Given the description of an element on the screen output the (x, y) to click on. 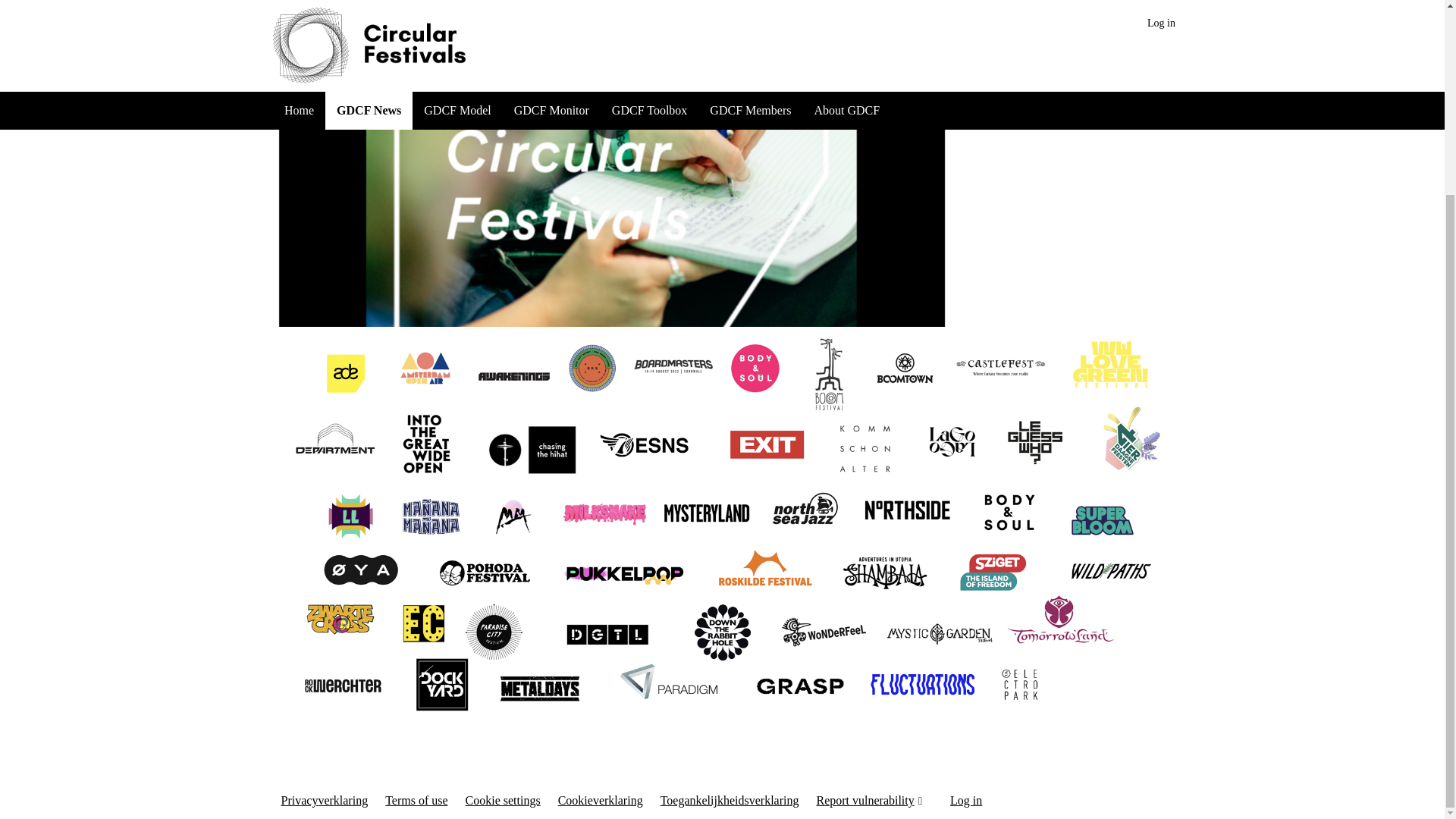
Log in (965, 800)
Terms of use (415, 800)
Toegankelijkheidsverklaring (730, 800)
More info here! (325, 668)
Report vulnerability (870, 800)
Cookieverklaring (600, 800)
Amsterdam Dance Event (579, 614)
Cookie settings (502, 800)
Privacyverklaring (324, 800)
